Given the description of an element on the screen output the (x, y) to click on. 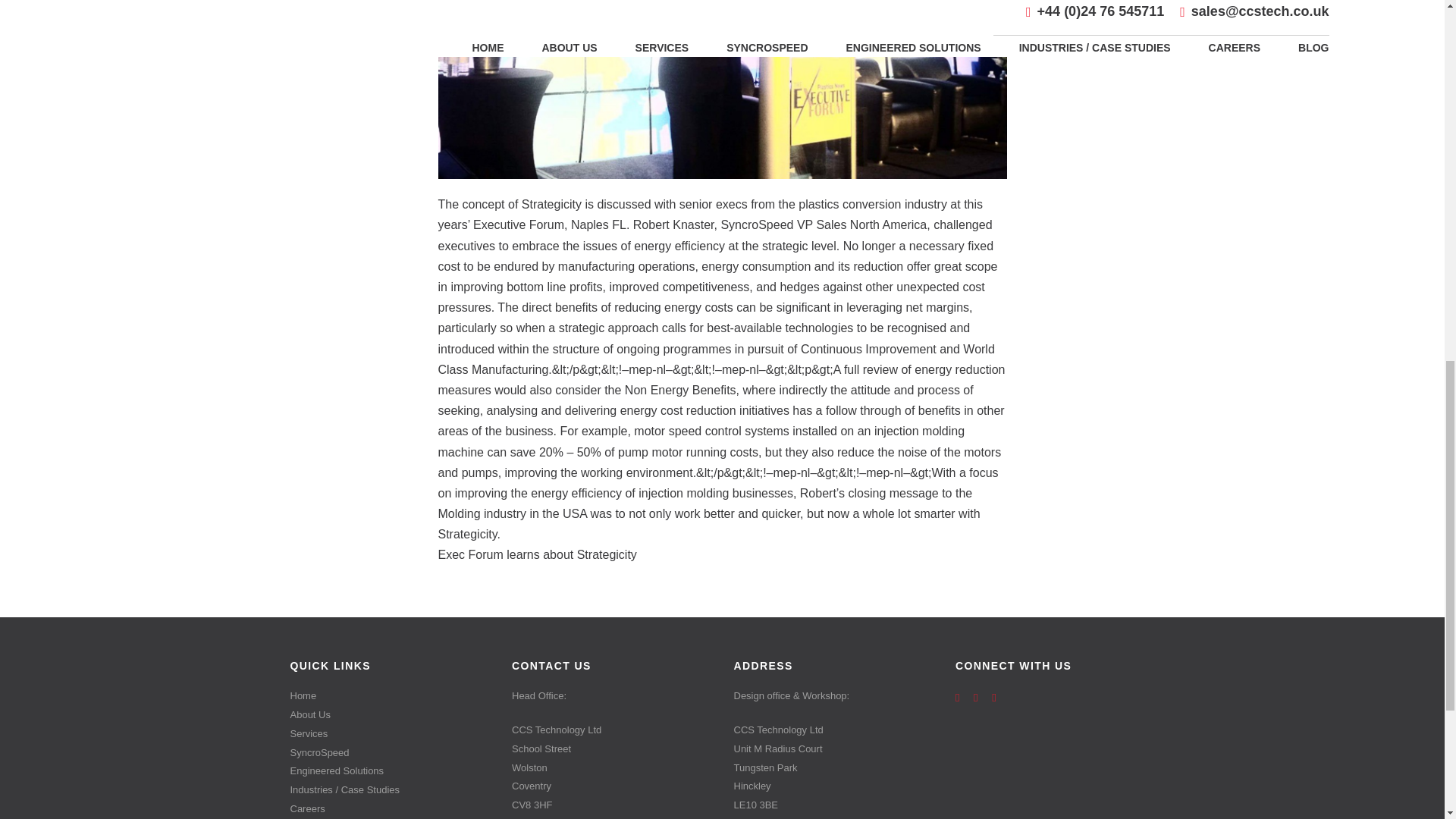
Services (389, 733)
Services (389, 733)
About Us (389, 714)
About Us (389, 714)
Careers (389, 809)
Home (389, 696)
Engineered Solutions (389, 771)
SyncroSpeed (389, 752)
Engineered Solutions (389, 771)
Home (389, 696)
